Given the description of an element on the screen output the (x, y) to click on. 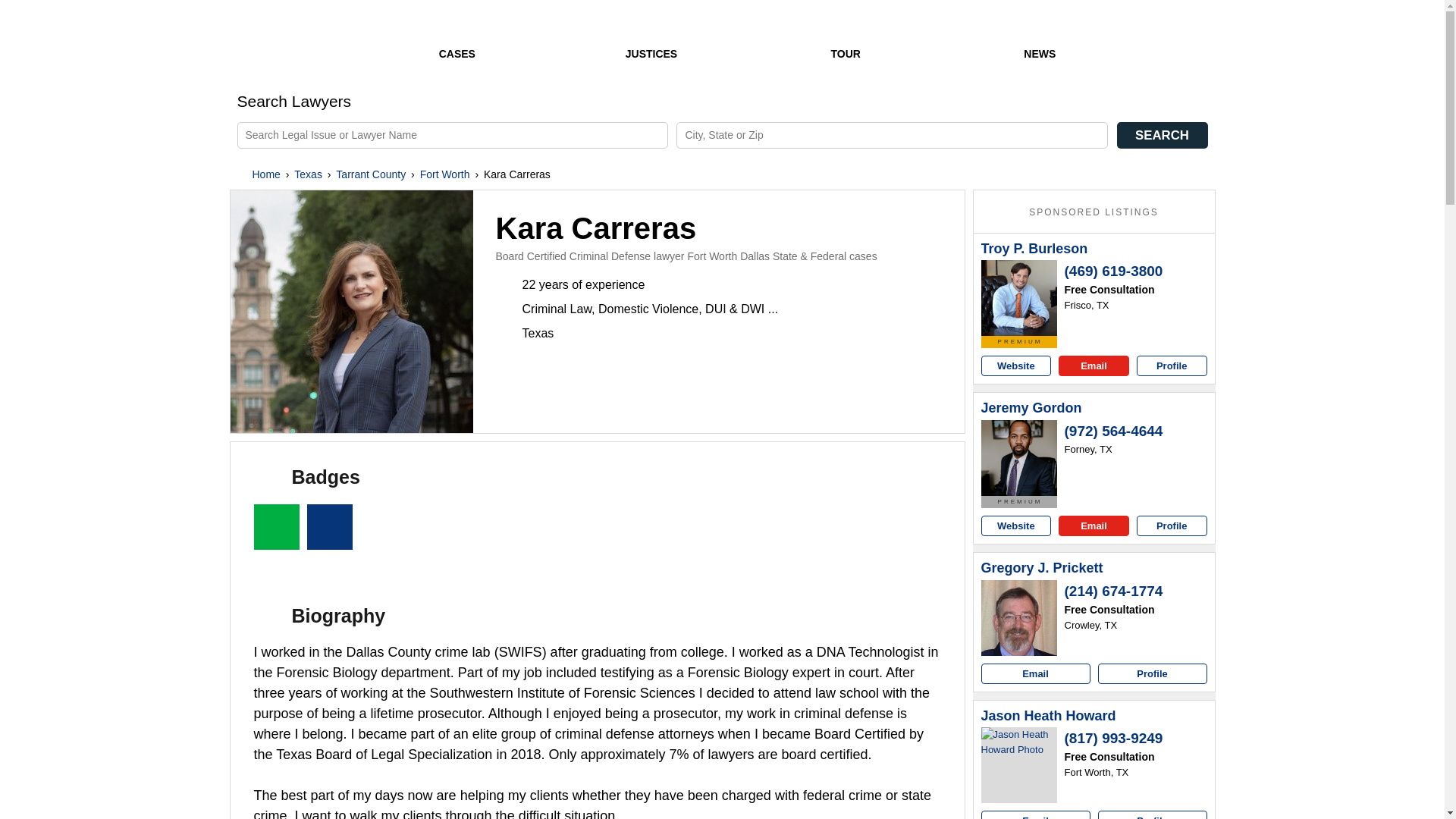
Website (1016, 365)
Email (1093, 525)
Texas (307, 174)
Troy P. Burleson (1034, 248)
Tarrant County (371, 174)
TOUR (845, 41)
Search Legal Issue or Lawyer Name (450, 135)
Jeremy  Gordon (1031, 408)
Profile (1172, 365)
Profile (1172, 525)
